Given the description of an element on the screen output the (x, y) to click on. 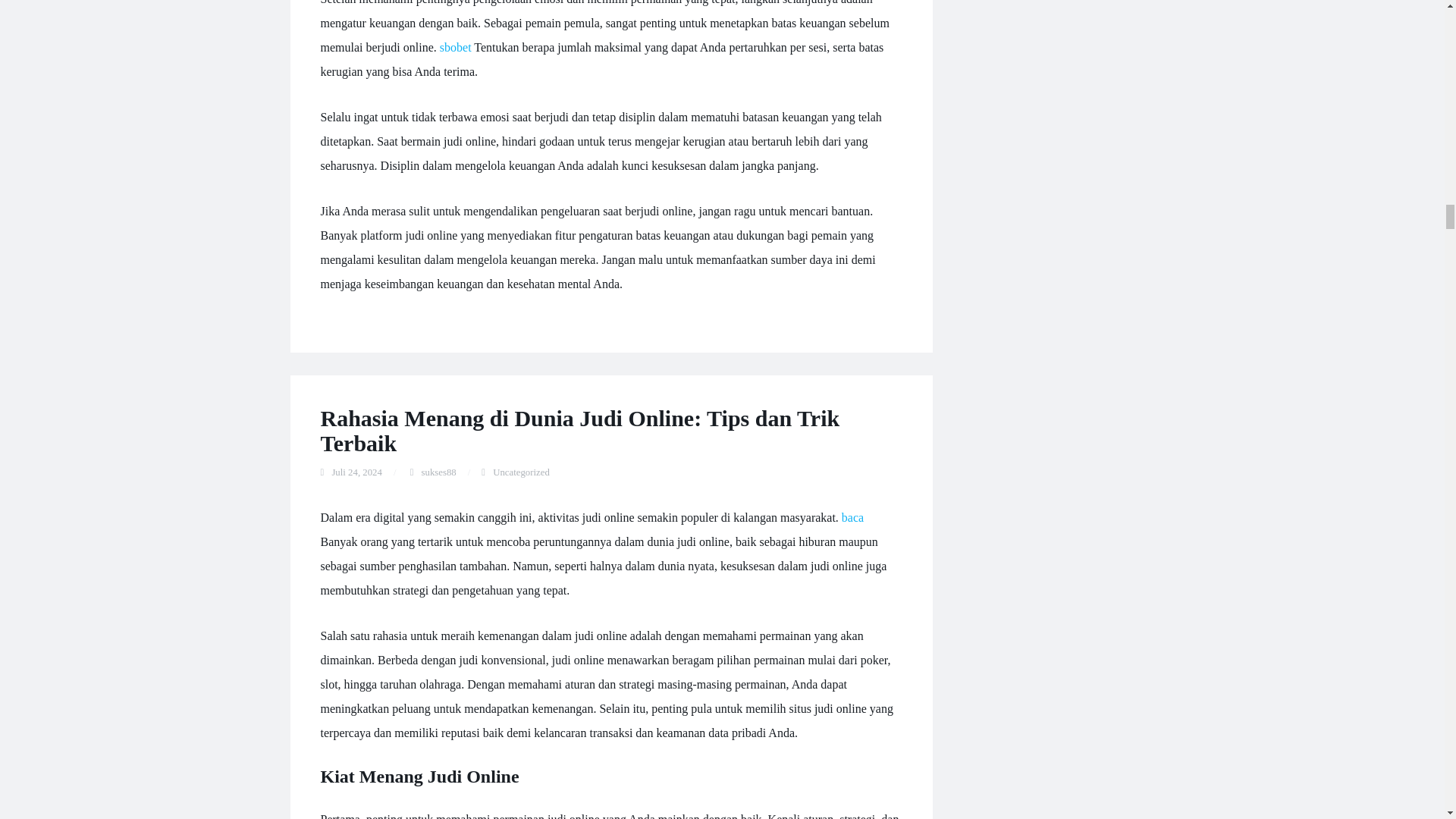
Rahasia Menang di Dunia Judi Online: Tips dan Trik Terbaik (580, 430)
Juli 24, 2024 (356, 471)
sbobet (455, 47)
